Given the description of an element on the screen output the (x, y) to click on. 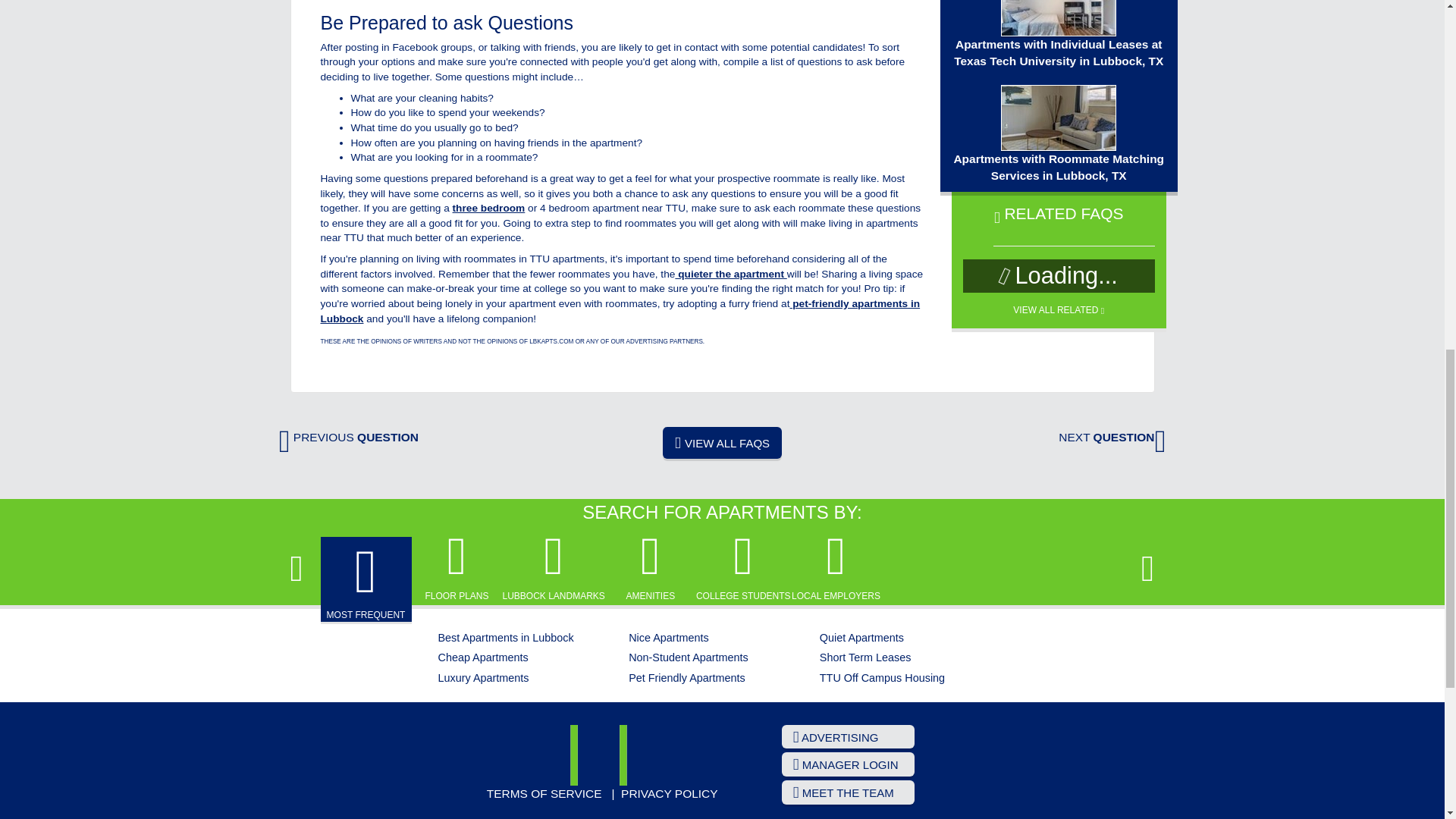
FLOOR PLANS (456, 565)
Lubbock, TX Apartments (601, 754)
See Pet Friendly Apartments in Lubbock! (620, 311)
See a custom list of quiet apartments in Lubbock! (730, 274)
Apartments with Roommate Matching Services in Lubbock, TX (1058, 133)
AMENITIES (650, 565)
Three bedroom apartment near TTU (488, 207)
three bedroom (488, 207)
 PREVIOUS QUESTION (349, 436)
quieter the apartment (730, 274)
NEXT QUESTION (1112, 436)
MOST FREQUENT (365, 580)
pet-friendly apartments in Lubbock (620, 311)
 VIEW ALL FAQS (721, 442)
